Given the description of an element on the screen output the (x, y) to click on. 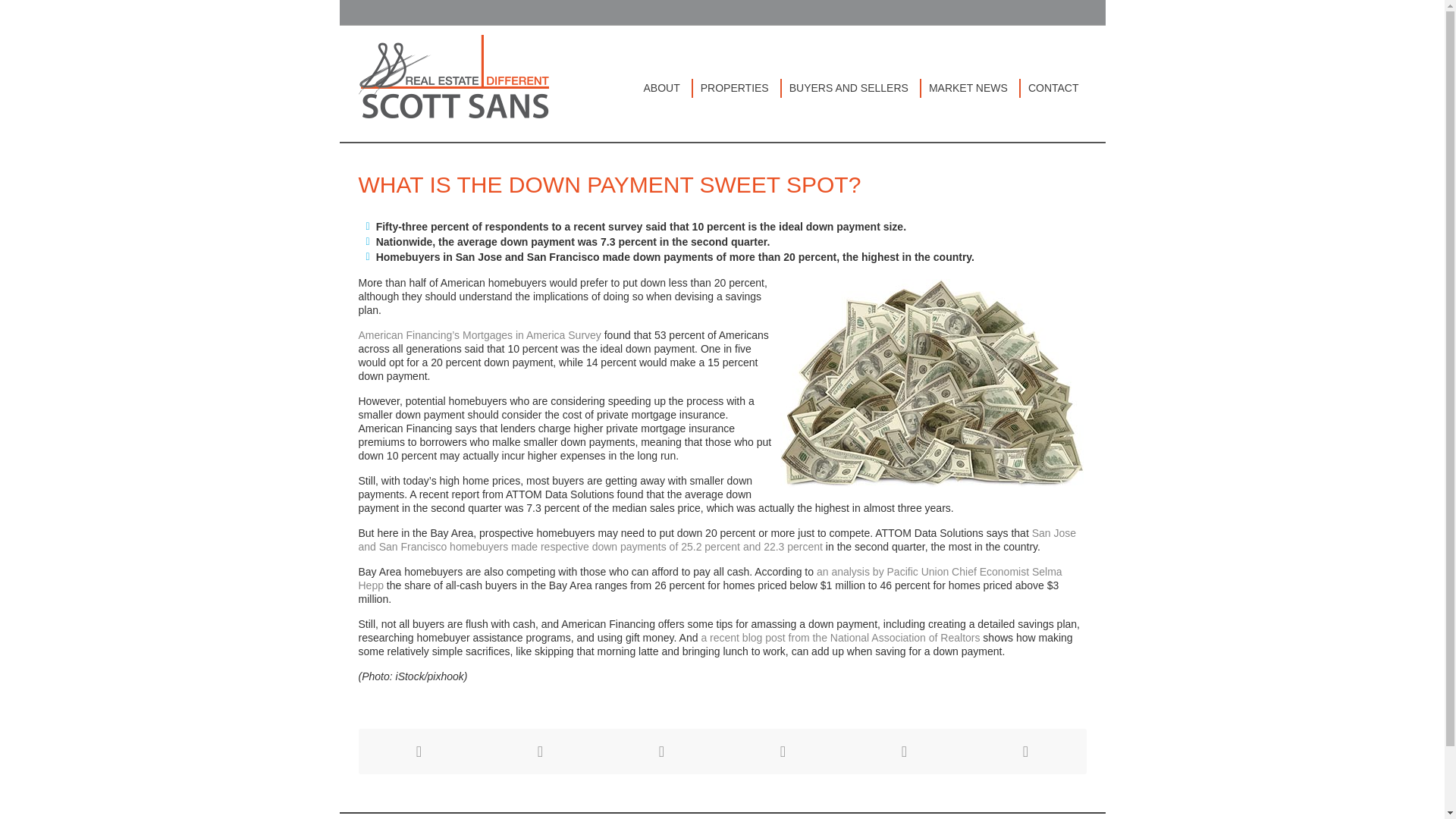
ABOUT (663, 87)
an analysis by Pacific Union Chief Economist Selma Hepp (709, 578)
MARKET NEWS (970, 87)
a recent blog post from the National Association of Realtors (839, 637)
BUYERS AND SELLERS (851, 87)
CONTACT (1053, 87)
PROPERTIES (737, 87)
